Given the description of an element on the screen output the (x, y) to click on. 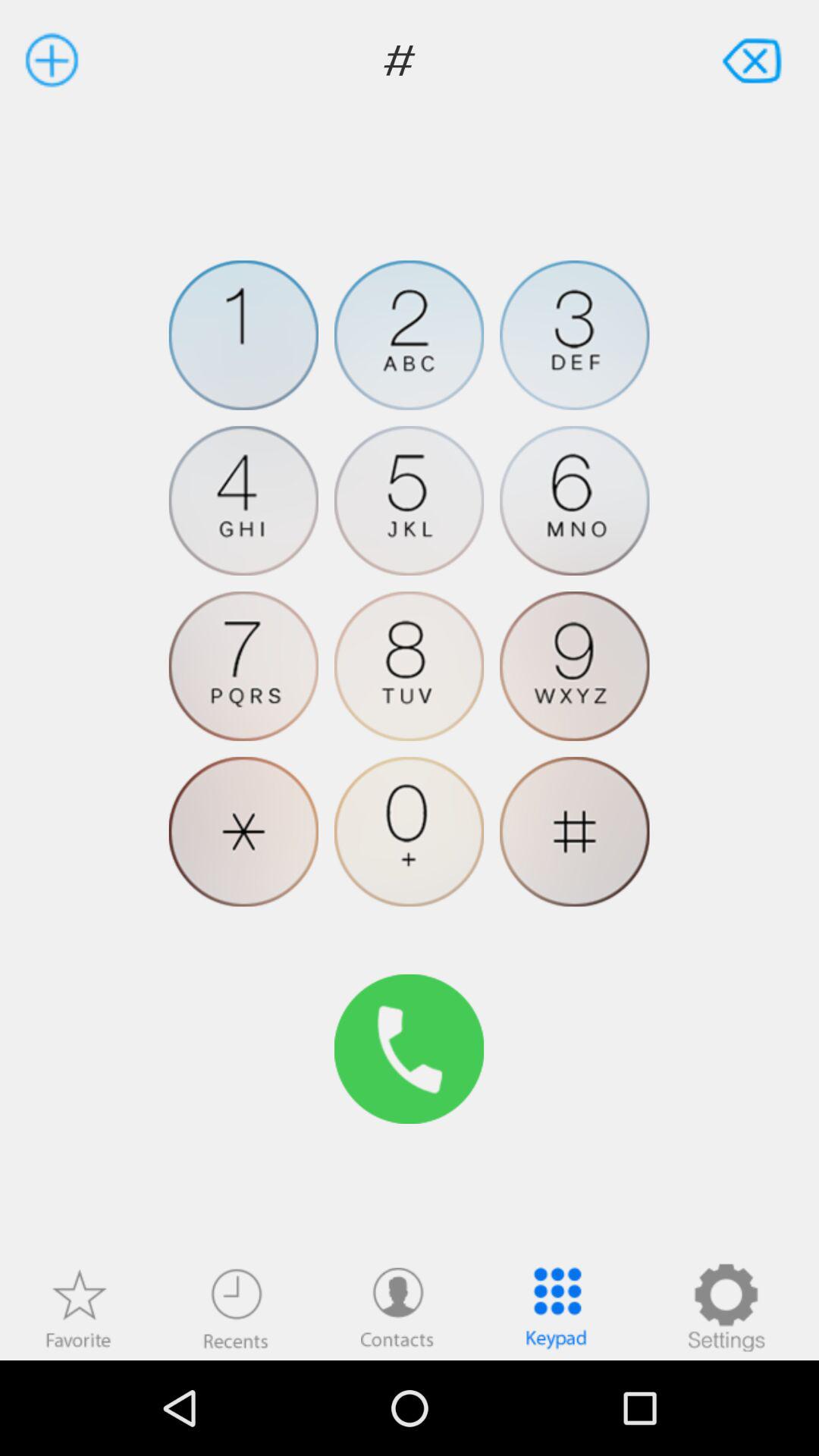
tap the item below the # item (243, 335)
